Given the description of an element on the screen output the (x, y) to click on. 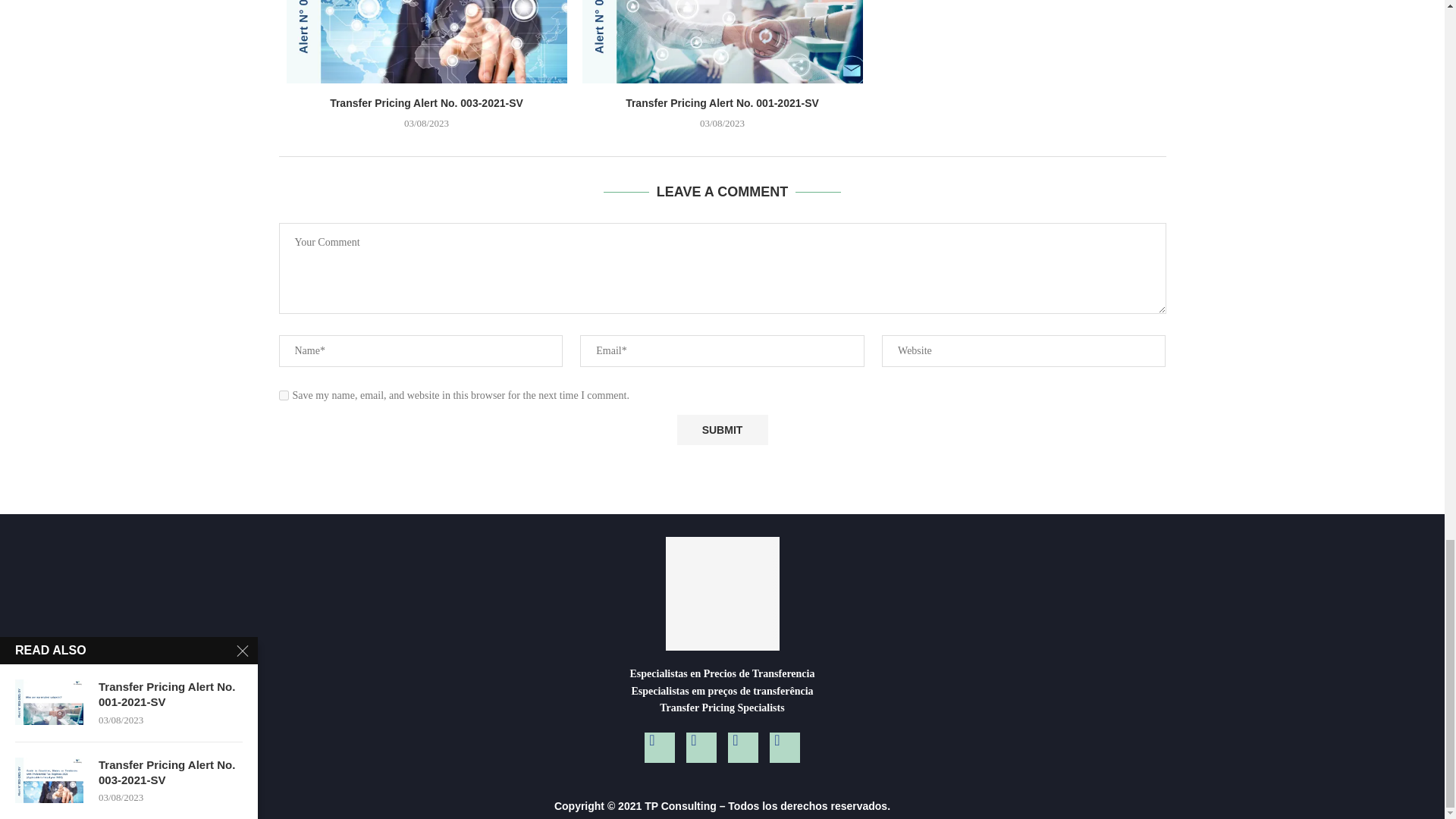
yes (283, 395)
Transfer Pricing Alert No. 003-2021-SV (426, 42)
Submit (722, 429)
Transfer Pricing Alert No. 001-2021-SV (722, 42)
